Given the description of an element on the screen output the (x, y) to click on. 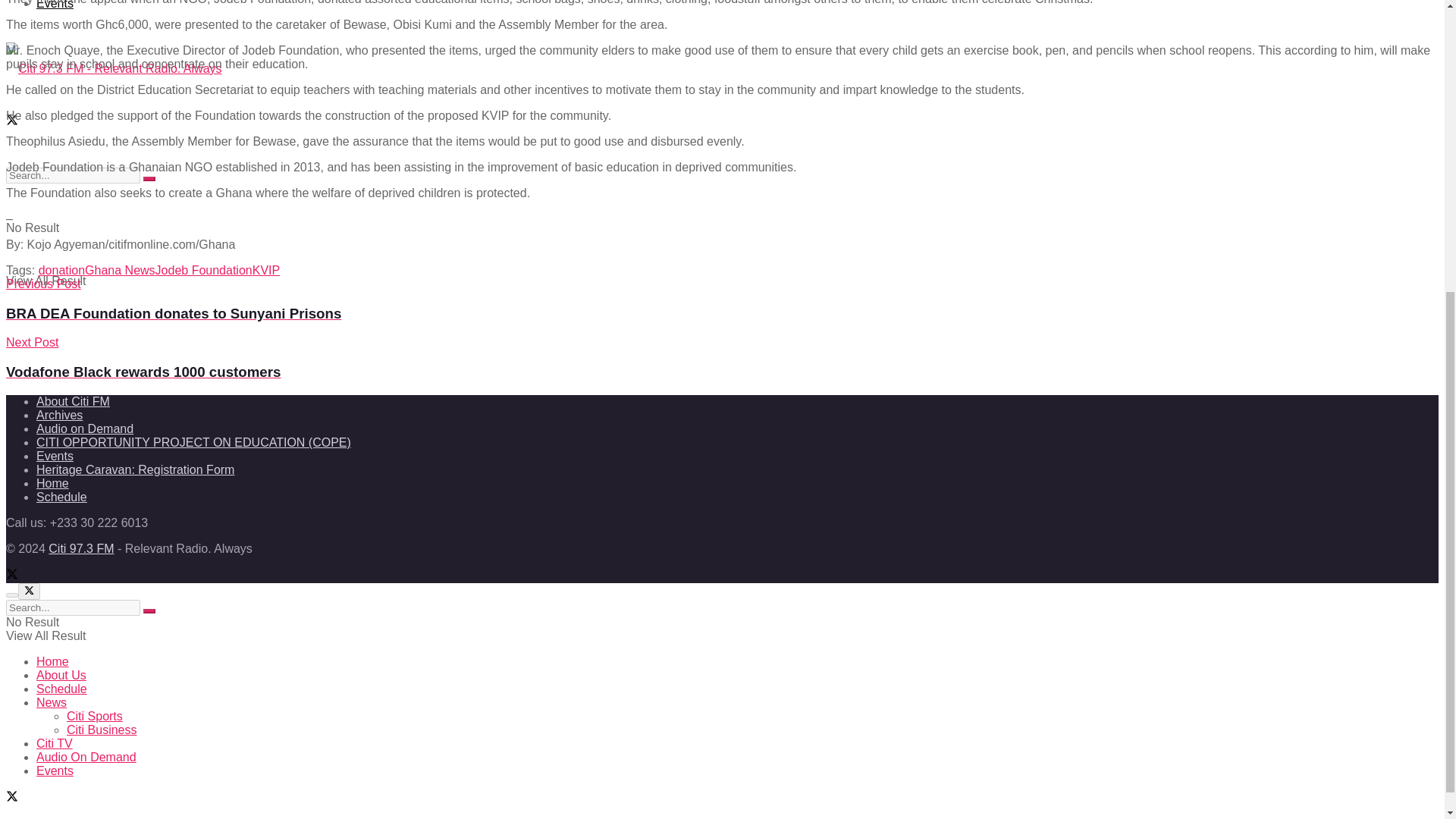
Events (55, 4)
donation (61, 269)
Ghana News (119, 269)
Citi 97.3 FM (80, 548)
Jodeb Foundation (203, 269)
